Given the description of an element on the screen output the (x, y) to click on. 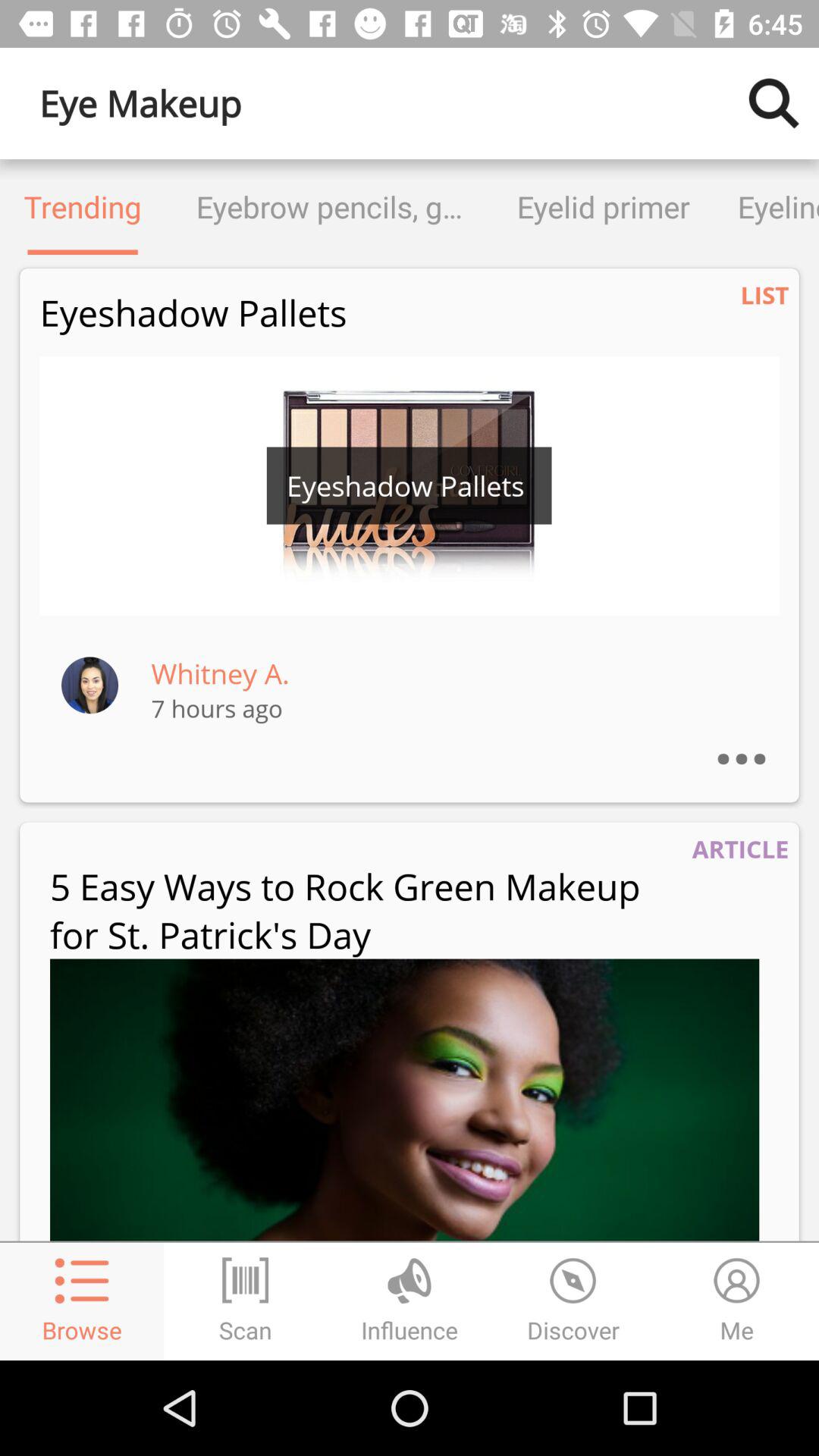
search (773, 103)
